Given the description of an element on the screen output the (x, y) to click on. 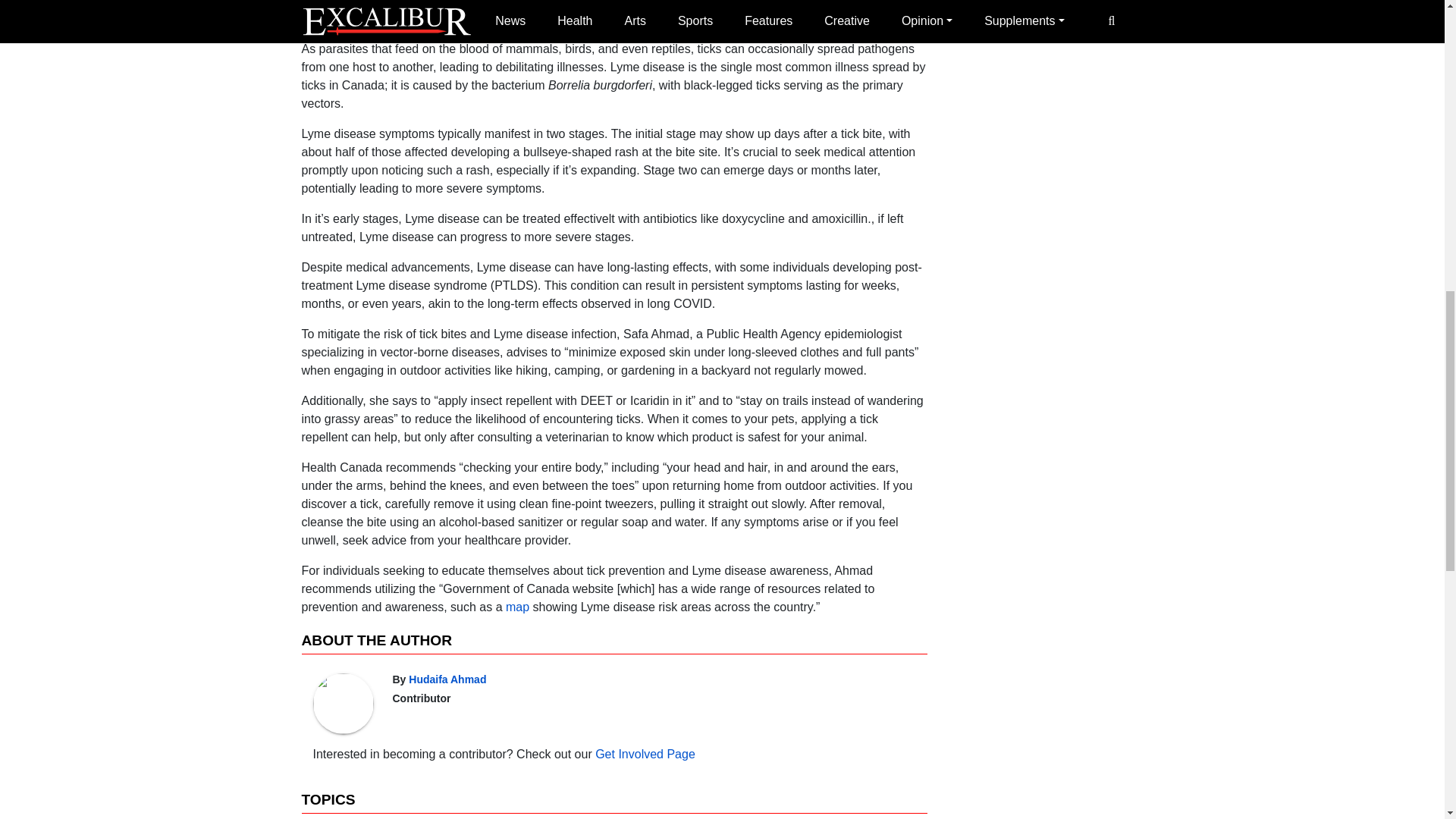
map (517, 607)
Hudaifa Ahmad (447, 679)
Get Involved Page (645, 754)
Posts by Hudaifa Ahmad (447, 679)
